Given the description of an element on the screen output the (x, y) to click on. 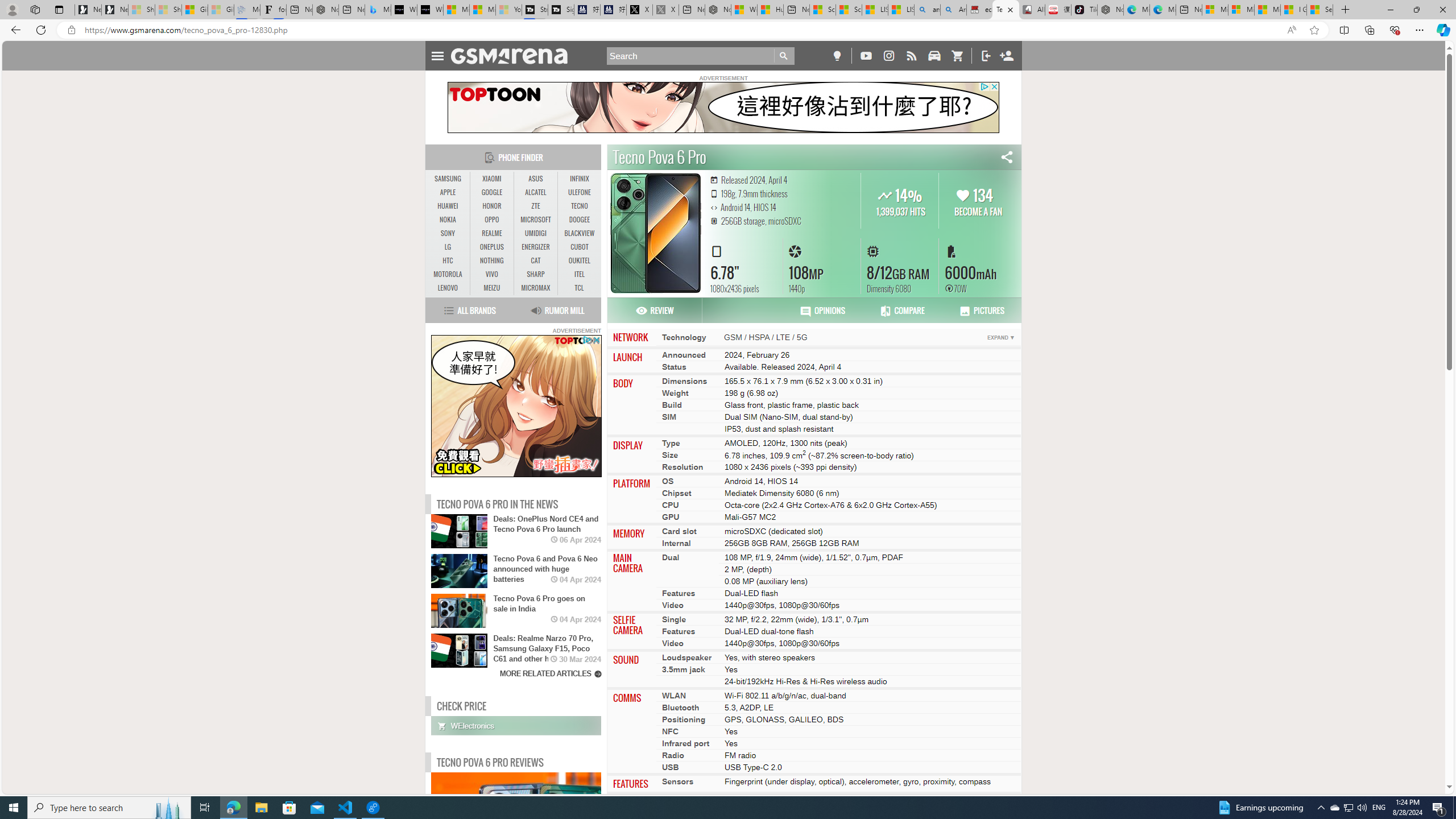
LENOVO (448, 287)
ULEFONE (579, 192)
